Given the description of an element on the screen output the (x, y) to click on. 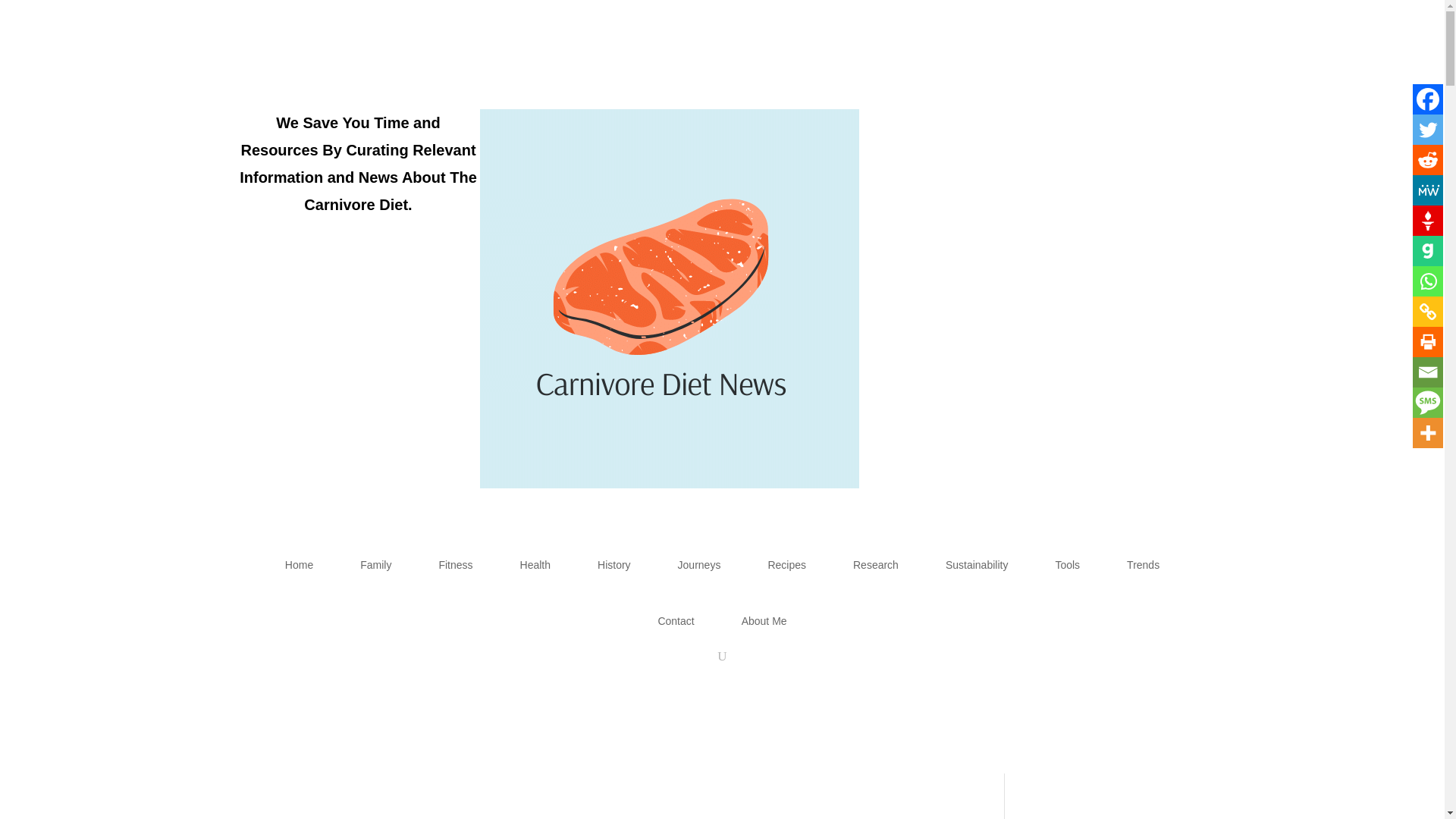
Home (299, 564)
Contact (675, 620)
History (614, 564)
Health (535, 564)
Recipes (786, 564)
Family (375, 564)
About Me (764, 620)
Follow on FlipBoard (1194, 120)
Journeys (699, 564)
Tools (1066, 564)
